Given the description of an element on the screen output the (x, y) to click on. 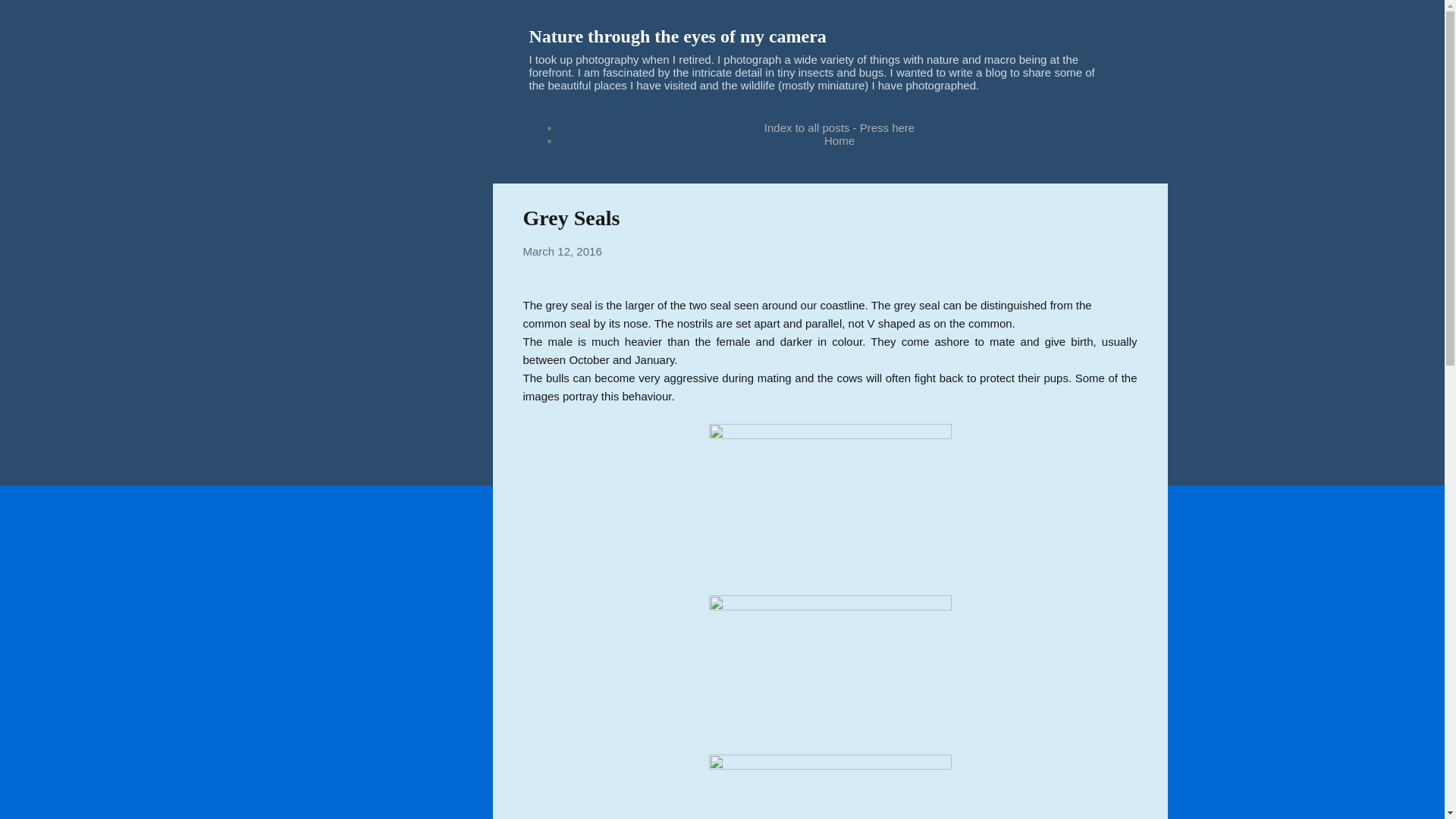
Search (29, 18)
Index to all posts - Press here (839, 127)
March 12, 2016 (562, 250)
Nature through the eyes of my camera (678, 35)
Home (839, 140)
permanent link (562, 250)
